Given the description of an element on the screen output the (x, y) to click on. 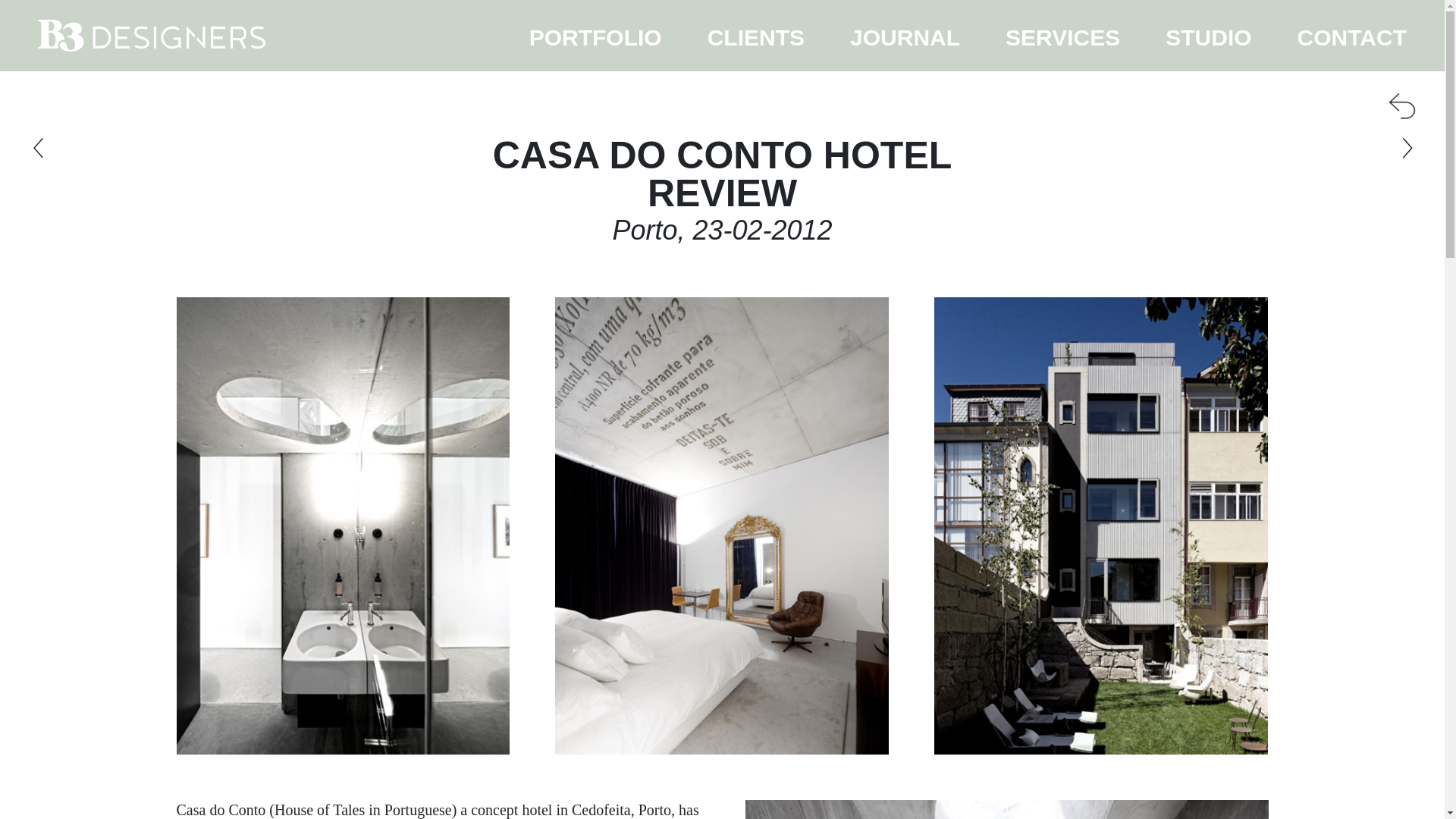
CONTACT (1352, 35)
SERVICES (1062, 35)
PORTFOLIO (595, 35)
CLIENTS (755, 35)
STUDIO (1208, 35)
JOURNAL (904, 35)
